Given the description of an element on the screen output the (x, y) to click on. 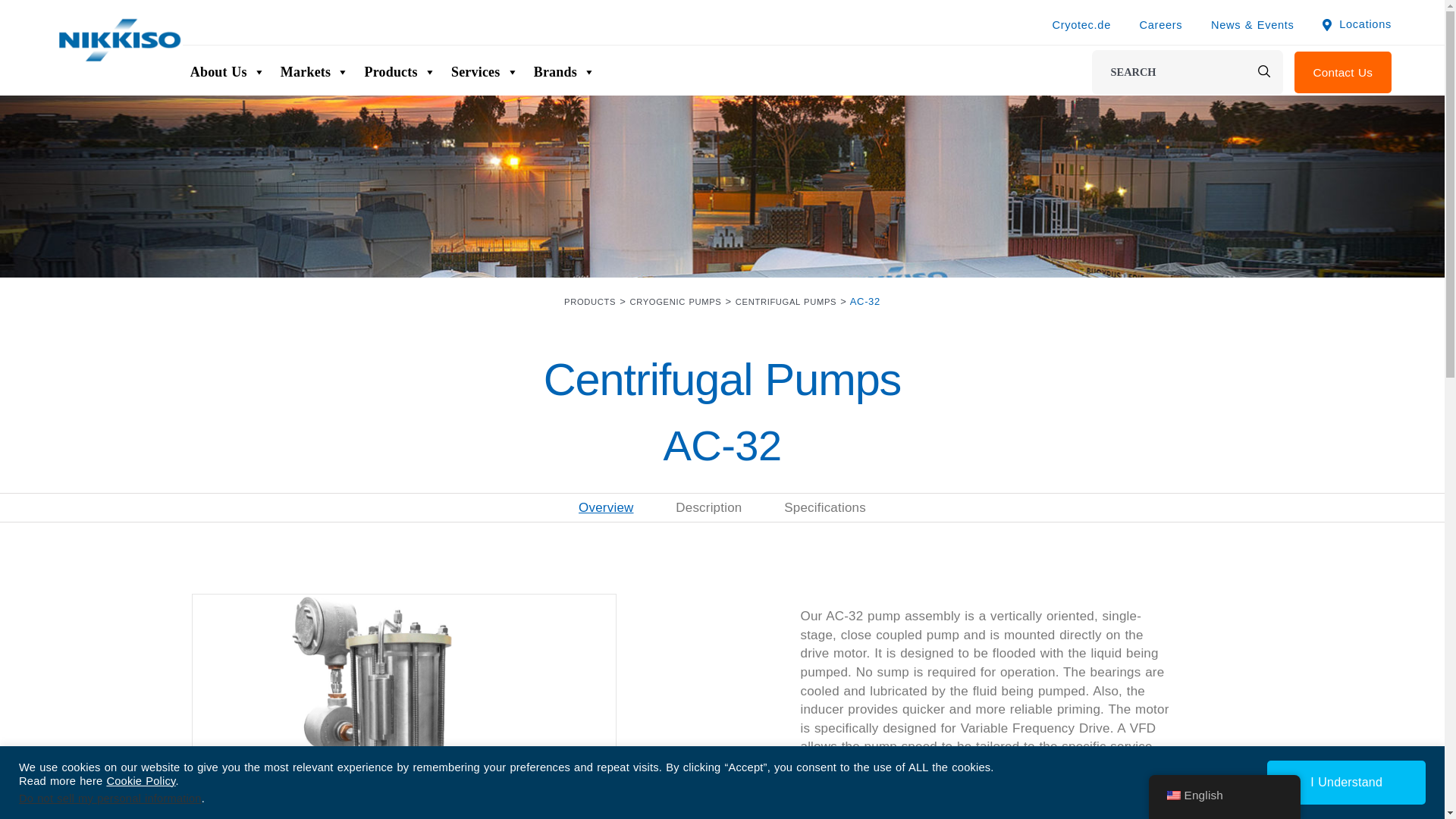
Cryotec.de (1080, 24)
Nikkiso (117, 39)
Products (399, 71)
Locations (1356, 23)
Careers (1161, 24)
English (1172, 795)
Markets (314, 71)
About Us (228, 71)
